Given the description of an element on the screen output the (x, y) to click on. 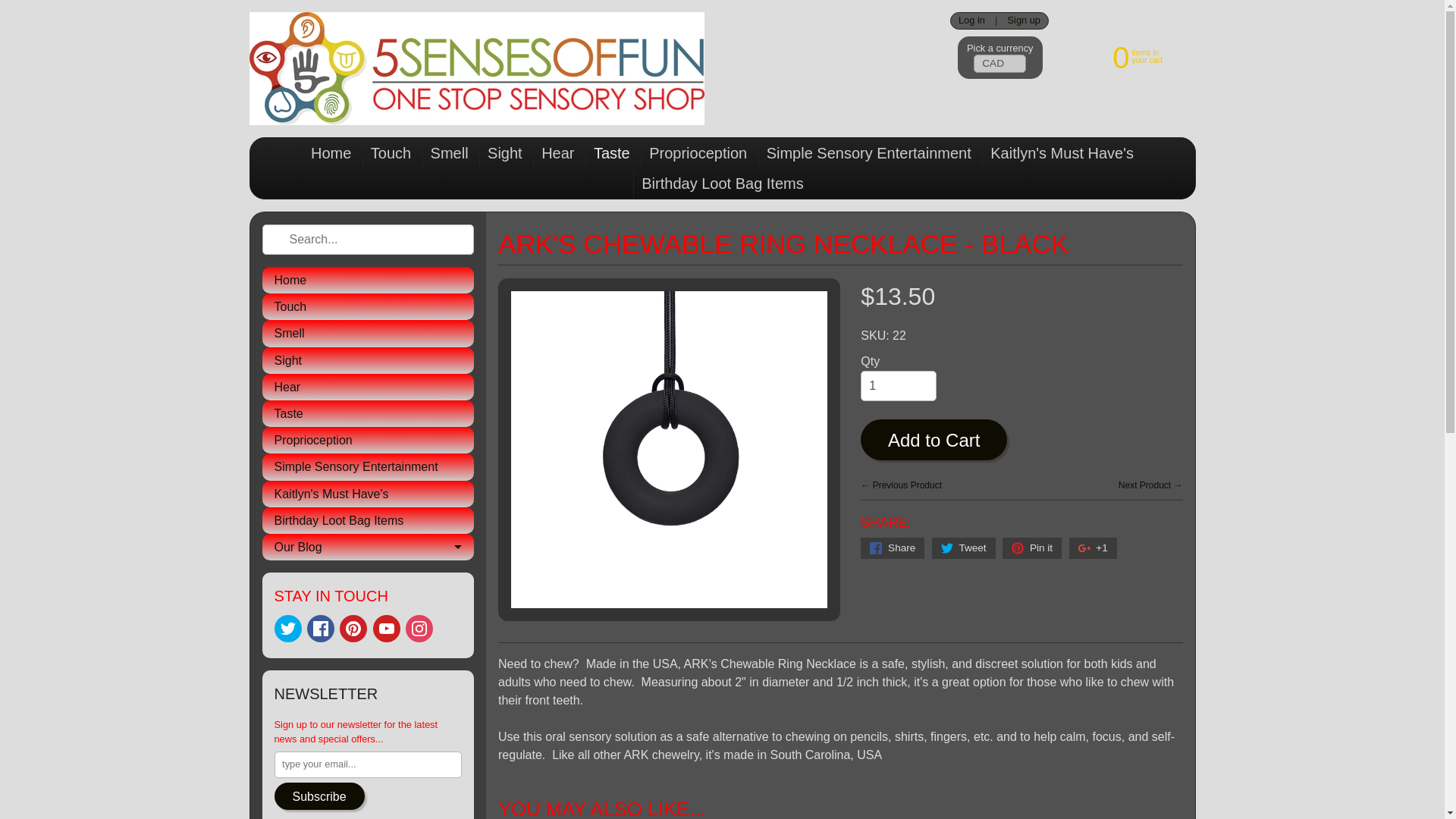
Proprioception (368, 439)
Birthday Loot Bag Items (1122, 56)
Facebook (368, 519)
Kaitlyn's Must Have's (320, 628)
Taste (368, 493)
Home (611, 153)
Sight (368, 279)
Hear (368, 360)
Simple Sensory Entertainment (557, 153)
